Given the description of an element on the screen output the (x, y) to click on. 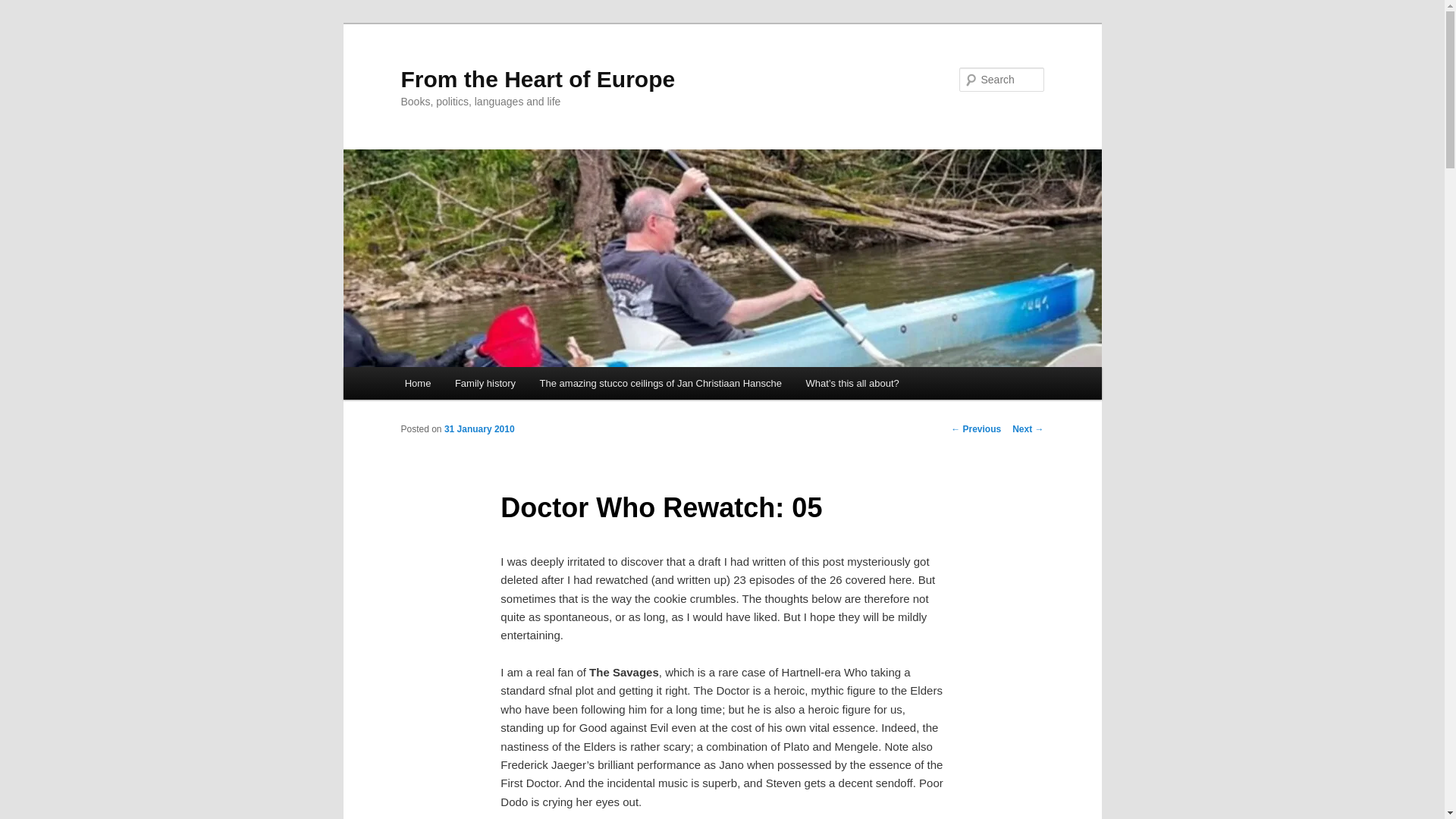
From the Heart of Europe (537, 78)
The amazing stucco ceilings of Jan Christiaan Hansche (660, 382)
Search (24, 8)
Home (417, 382)
Family history (484, 382)
31 January 2010 (479, 429)
